Given the description of an element on the screen output the (x, y) to click on. 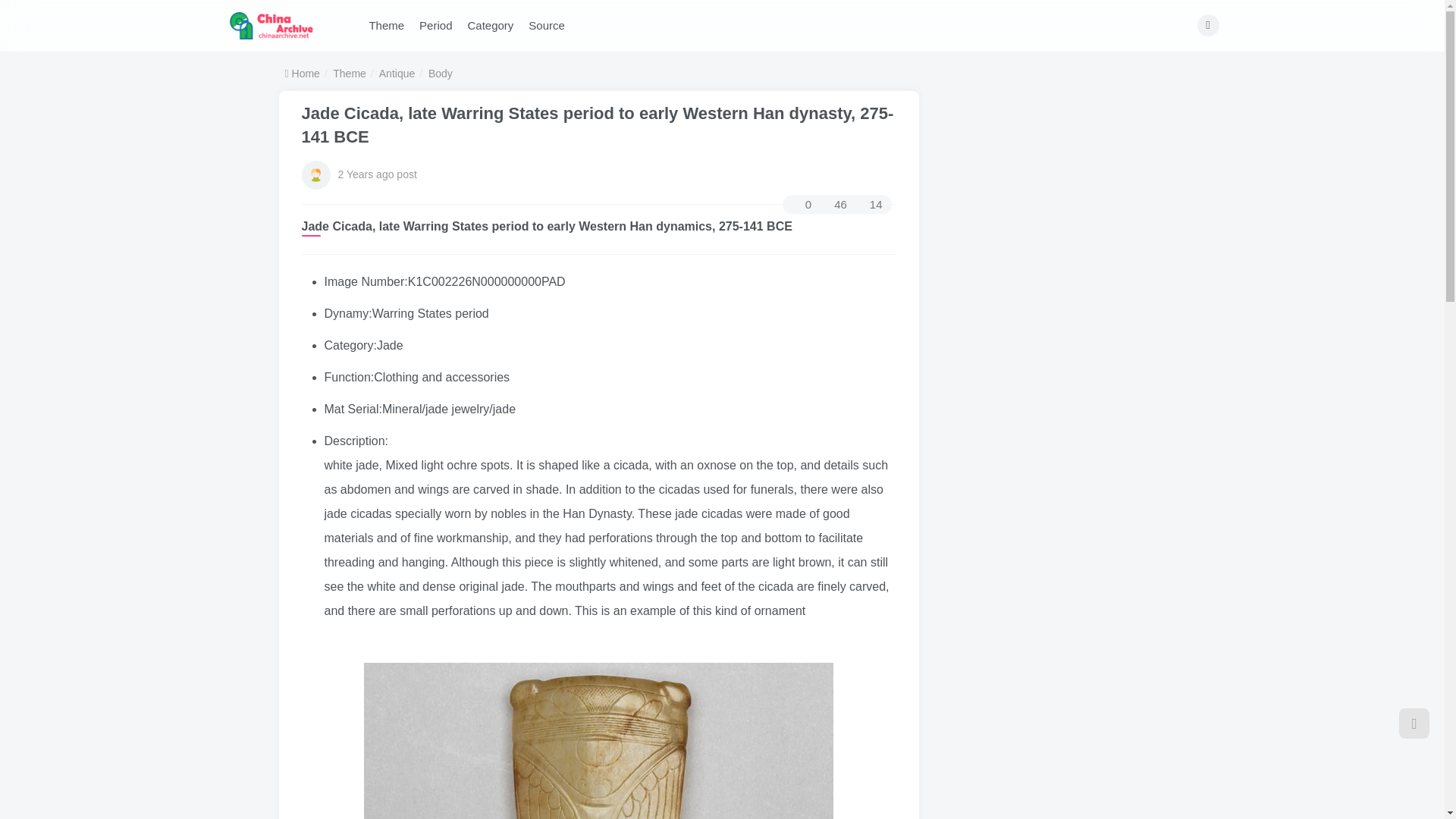
Theme (386, 25)
12-08-2022 19:11 post (376, 174)
Category (490, 25)
China Archive (271, 24)
Period (436, 25)
